Given the description of an element on the screen output the (x, y) to click on. 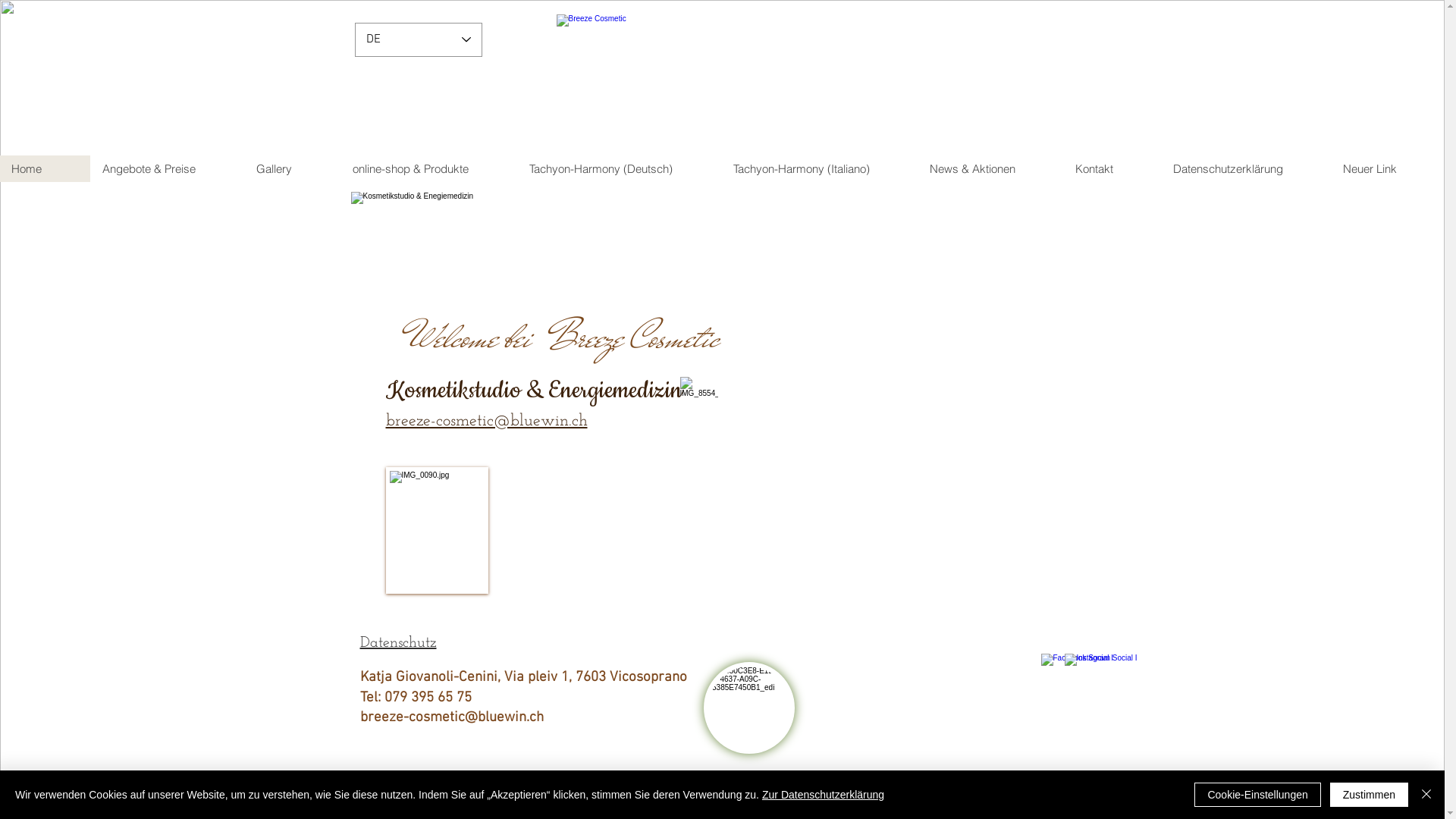
Cookie-Einstellungen Element type: text (1257, 794)
Soft Aesthetics Element type: text (727, 81)
your body deserves more Element type: text (727, 110)
Gallery Element type: text (292, 168)
breeze-cosmetic@bluewin.ch Element type: text (450, 717)
online-shop & Produkte Element type: text (428, 168)
breeze-cosmetic@bluewin.ch Element type: text (485, 420)
Zustimmen Element type: text (1369, 794)
Tachyon-Harmony (Italiano) Element type: text (819, 168)
Kosmetikstudio Element type: hover (726, 73)
Angebote & Preise Element type: text (167, 168)
Home Element type: text (45, 168)
Tachyon-Harmony (Deutsch) Element type: text (619, 168)
News & Aktionen Element type: text (990, 168)
Kontakt Element type: text (1112, 168)
Neuer Link Element type: text (1387, 168)
Datenschutz Element type: text (397, 642)
